Given the description of an element on the screen output the (x, y) to click on. 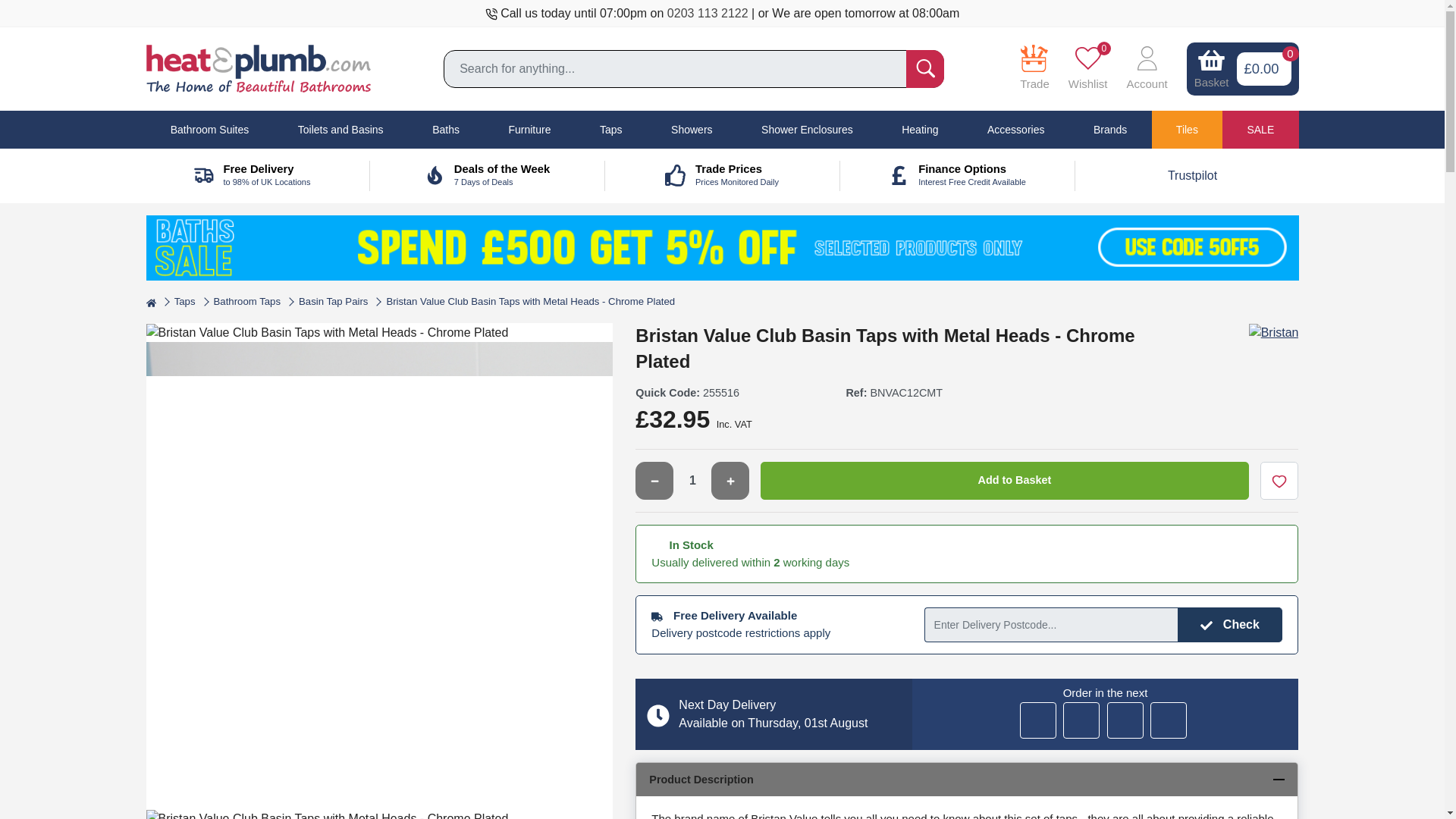
1 (691, 480)
0203 113 2122 (707, 12)
Showers (691, 129)
Toilets and Basins (340, 129)
Tiles (1187, 129)
Account (1146, 69)
Heating (919, 129)
Furniture (529, 129)
Baths (445, 129)
Toilets and Basins (340, 129)
Trade (1034, 71)
Trustpilot (957, 175)
Clearance Specials (1192, 174)
